Given the description of an element on the screen output the (x, y) to click on. 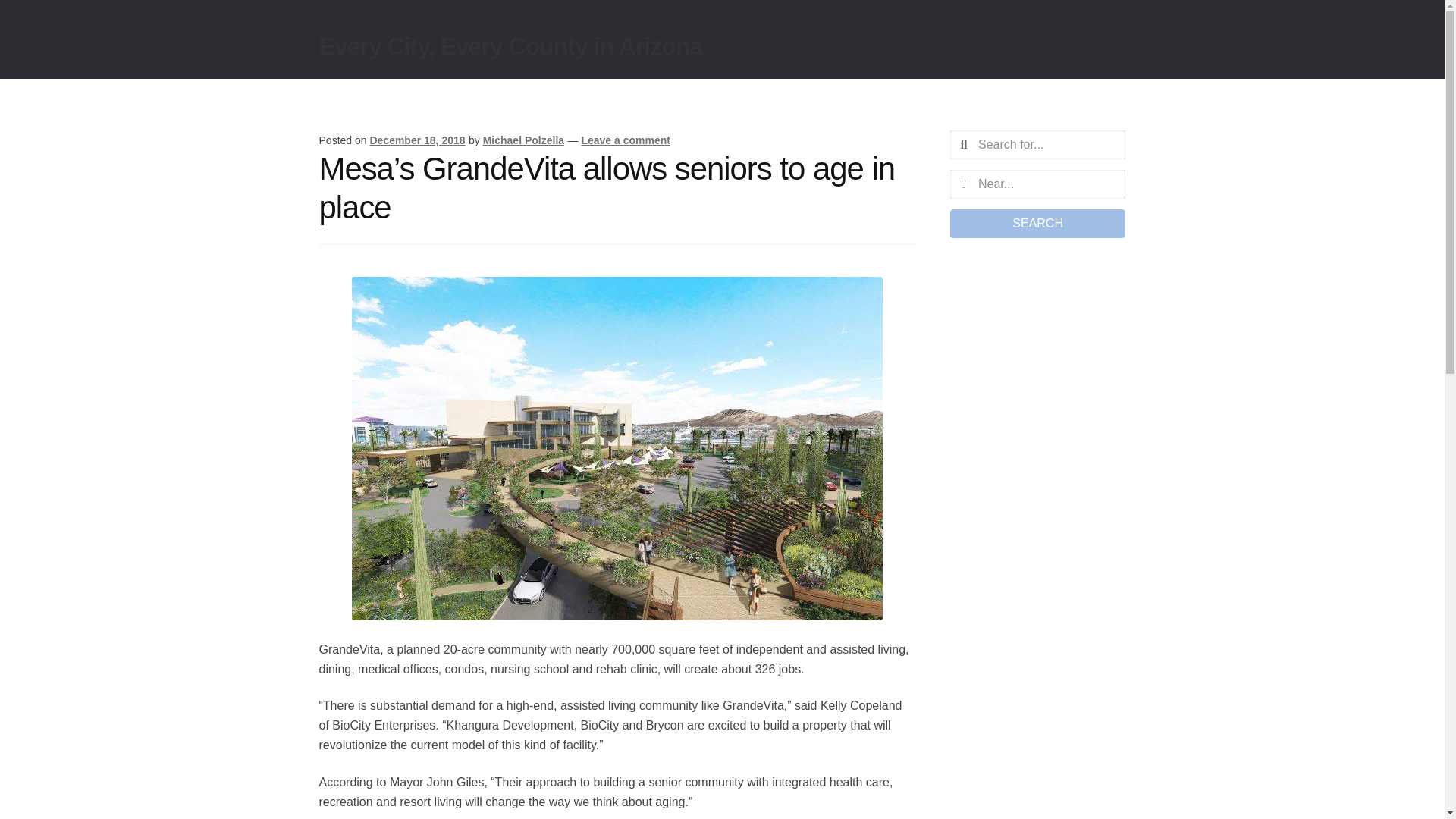
Every City, Every County in Arizona (510, 45)
Michael Polzella (523, 140)
SEARCH (1037, 223)
Leave a comment (624, 140)
December 18, 2018 (416, 140)
